Given the description of an element on the screen output the (x, y) to click on. 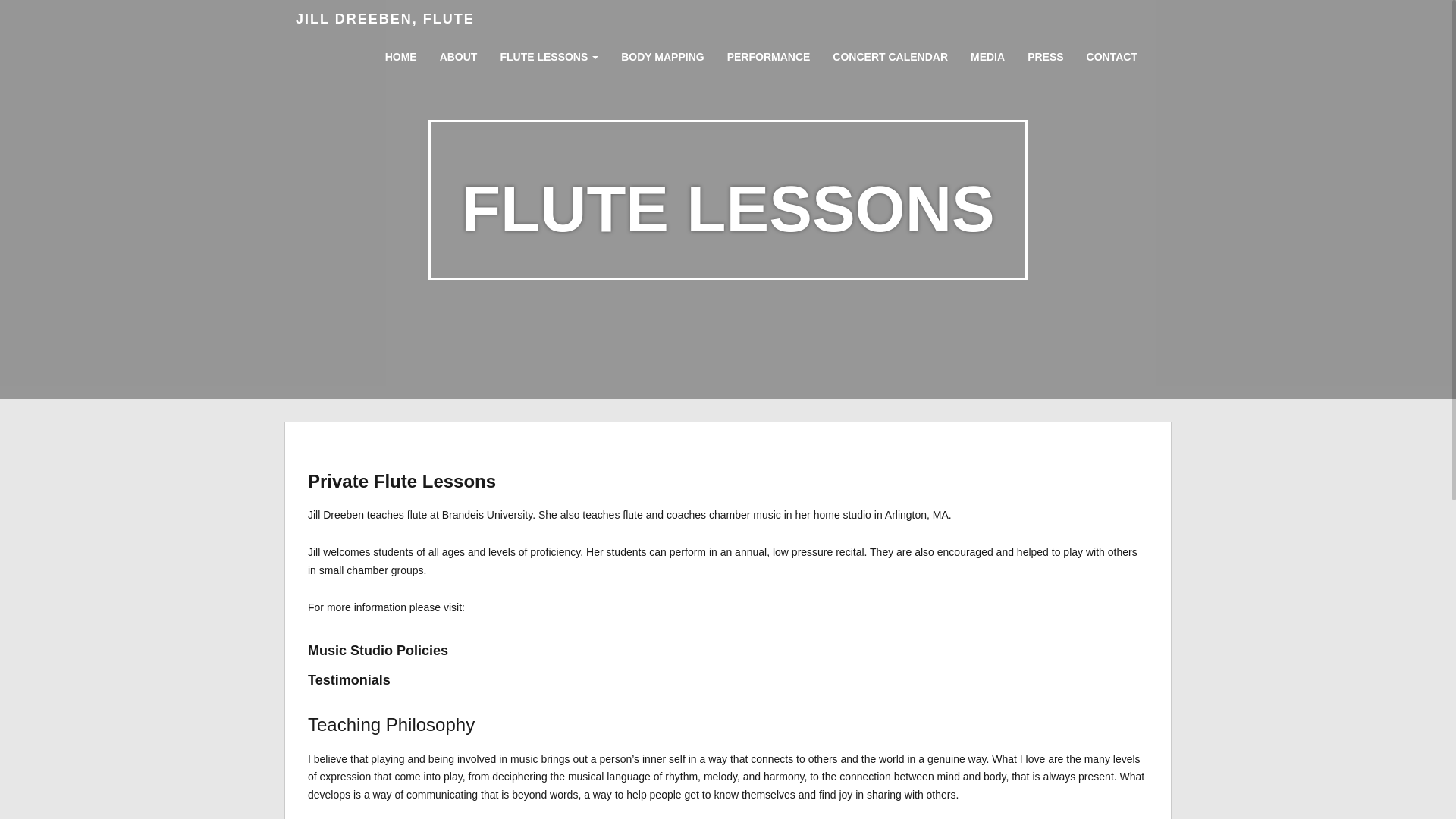
PERFORMANCE (768, 52)
CONTACT (1111, 52)
BODY MAPPING (661, 52)
Media (986, 52)
Concert Calendar (890, 52)
Press (1045, 52)
Performance (768, 52)
CONCERT CALENDAR (890, 52)
Contact (1111, 52)
Body Mapping (661, 52)
PRESS (1045, 52)
HOME (401, 52)
Home (401, 52)
FLUTE LESSONS (548, 53)
MEDIA (986, 52)
